Given the description of an element on the screen output the (x, y) to click on. 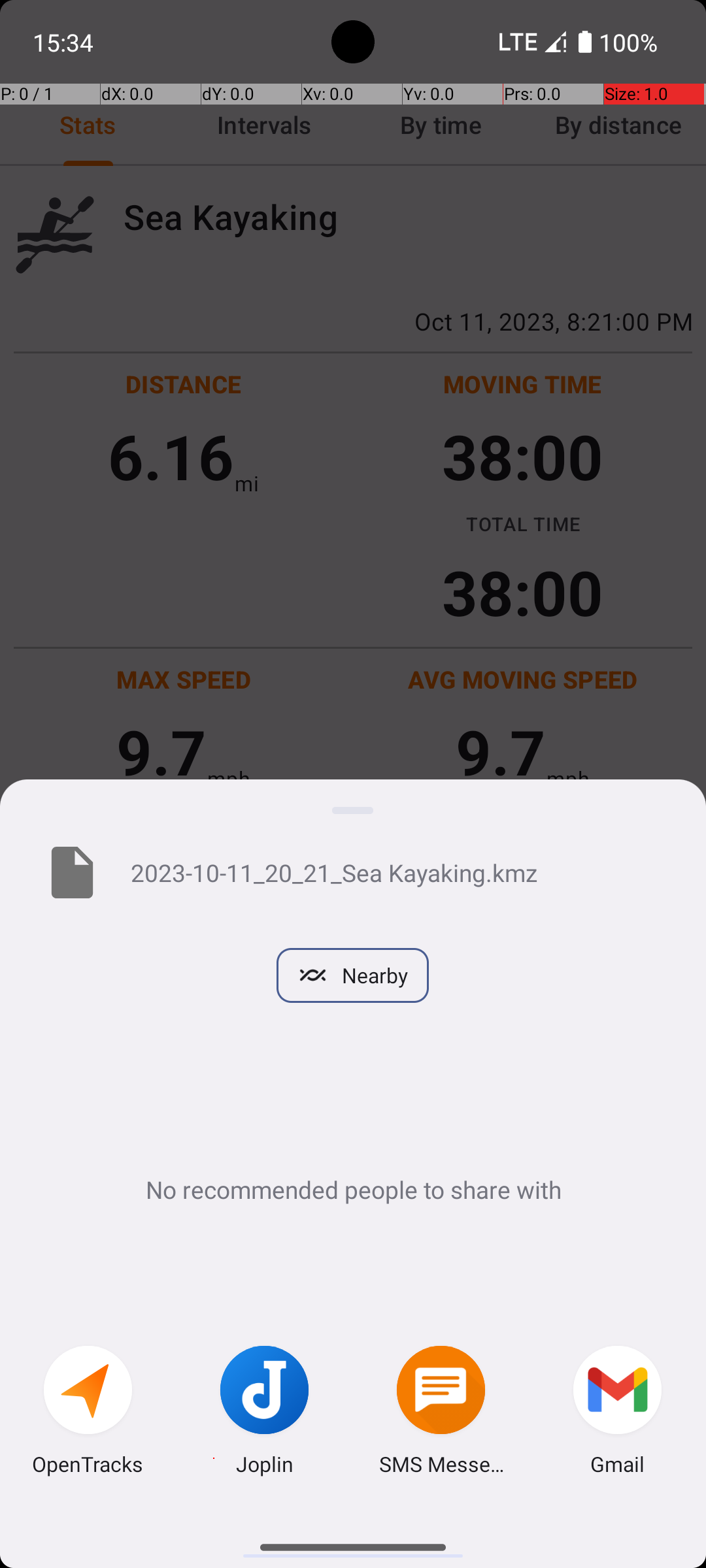
2023-10-11_20_21_Sea Kayaking.kmz Element type: android.widget.TextView (397, 872)
